Given the description of an element on the screen output the (x, y) to click on. 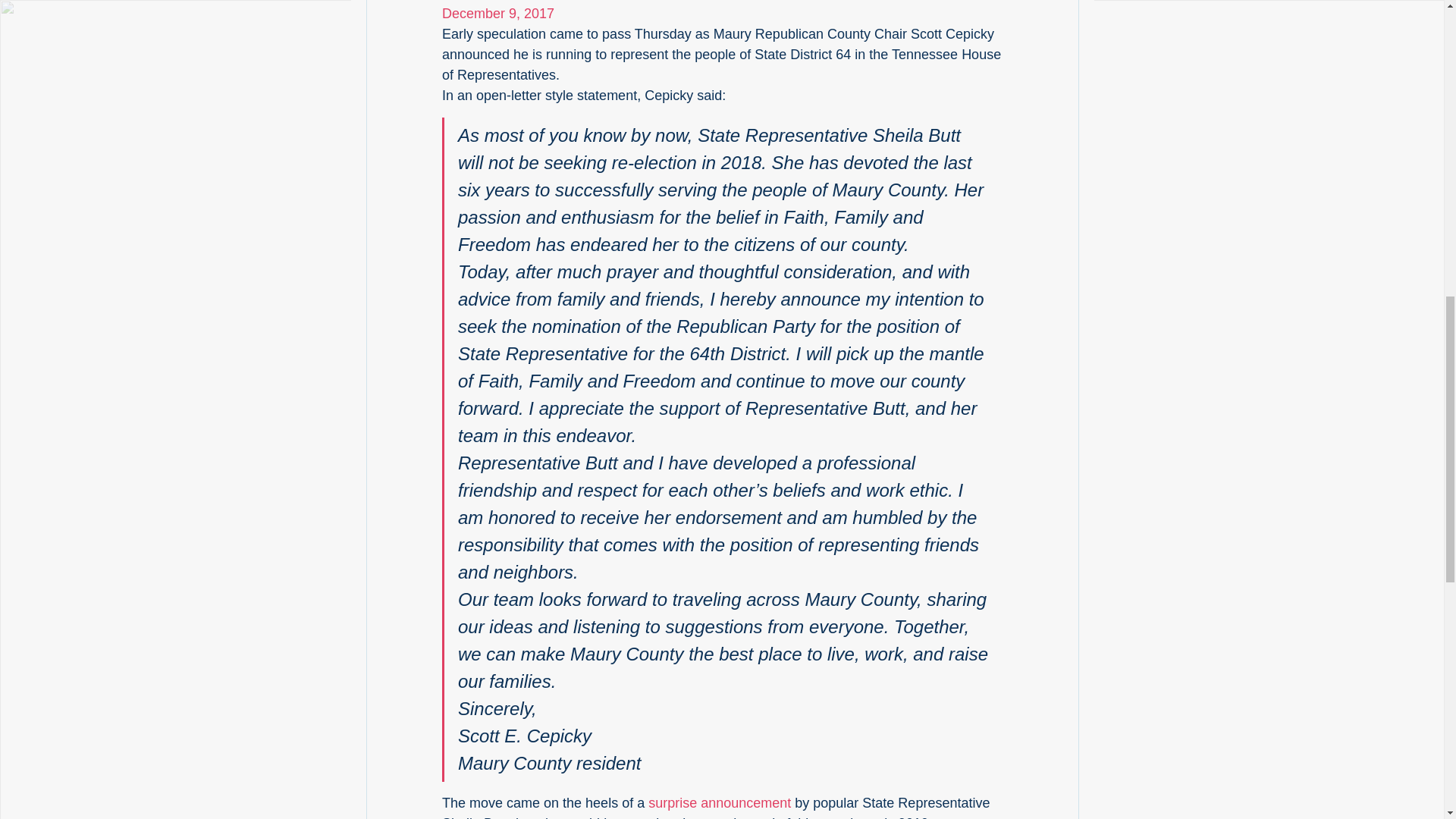
surprise announcement (718, 802)
December 9, 2017 (497, 13)
